Given the description of an element on the screen output the (x, y) to click on. 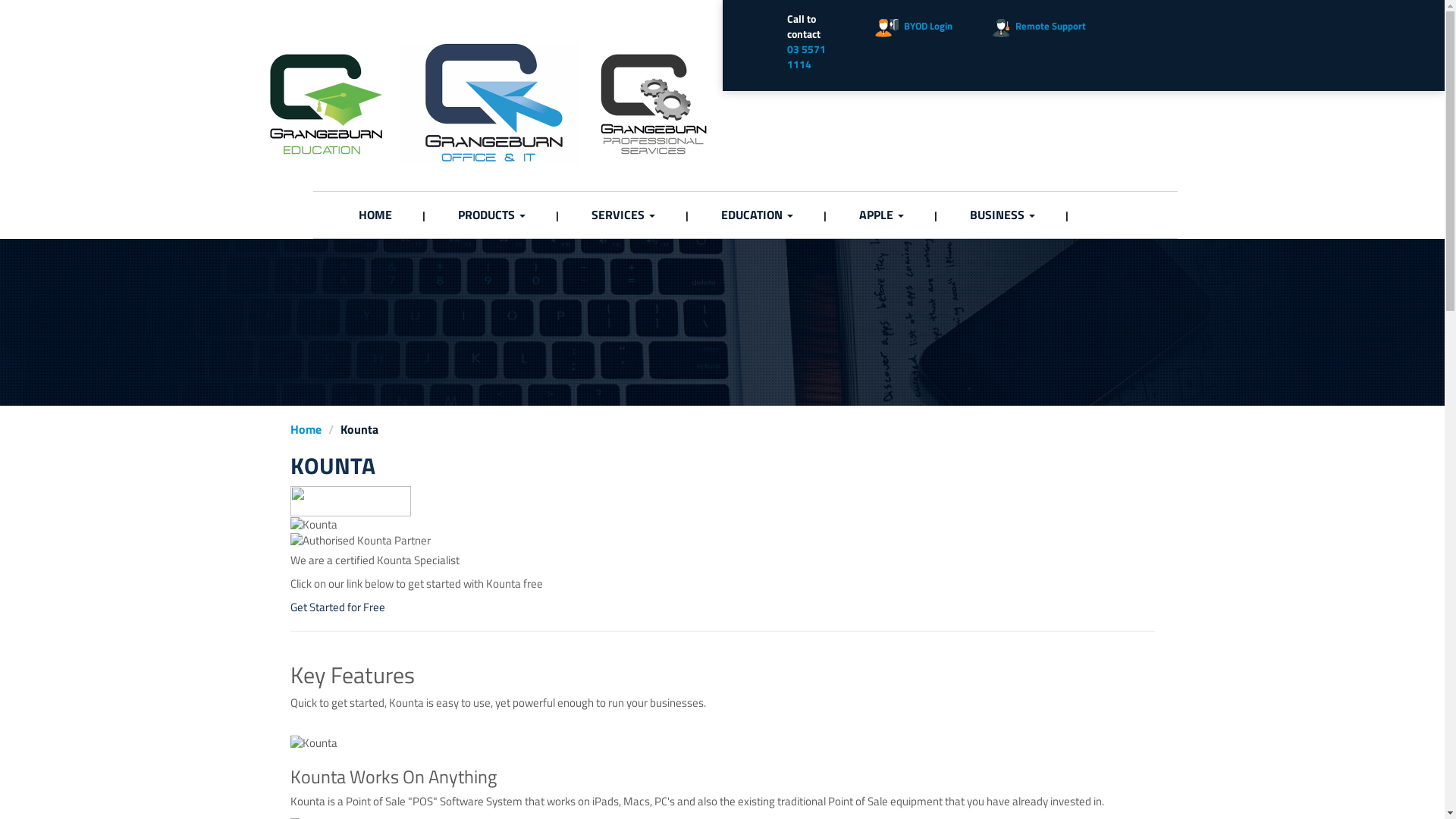
HOME Element type: text (374, 214)
APPLE Element type: text (880, 214)
03 5571 1114 Element type: text (806, 56)
BUSINESS Element type: text (1001, 214)
PRODUCTS Element type: text (491, 214)
Get Started for Free Element type: text (336, 606)
SERVICES Element type: text (623, 214)
Home Element type: text (304, 429)
EDUCATION Element type: text (756, 214)
